Given the description of an element on the screen output the (x, y) to click on. 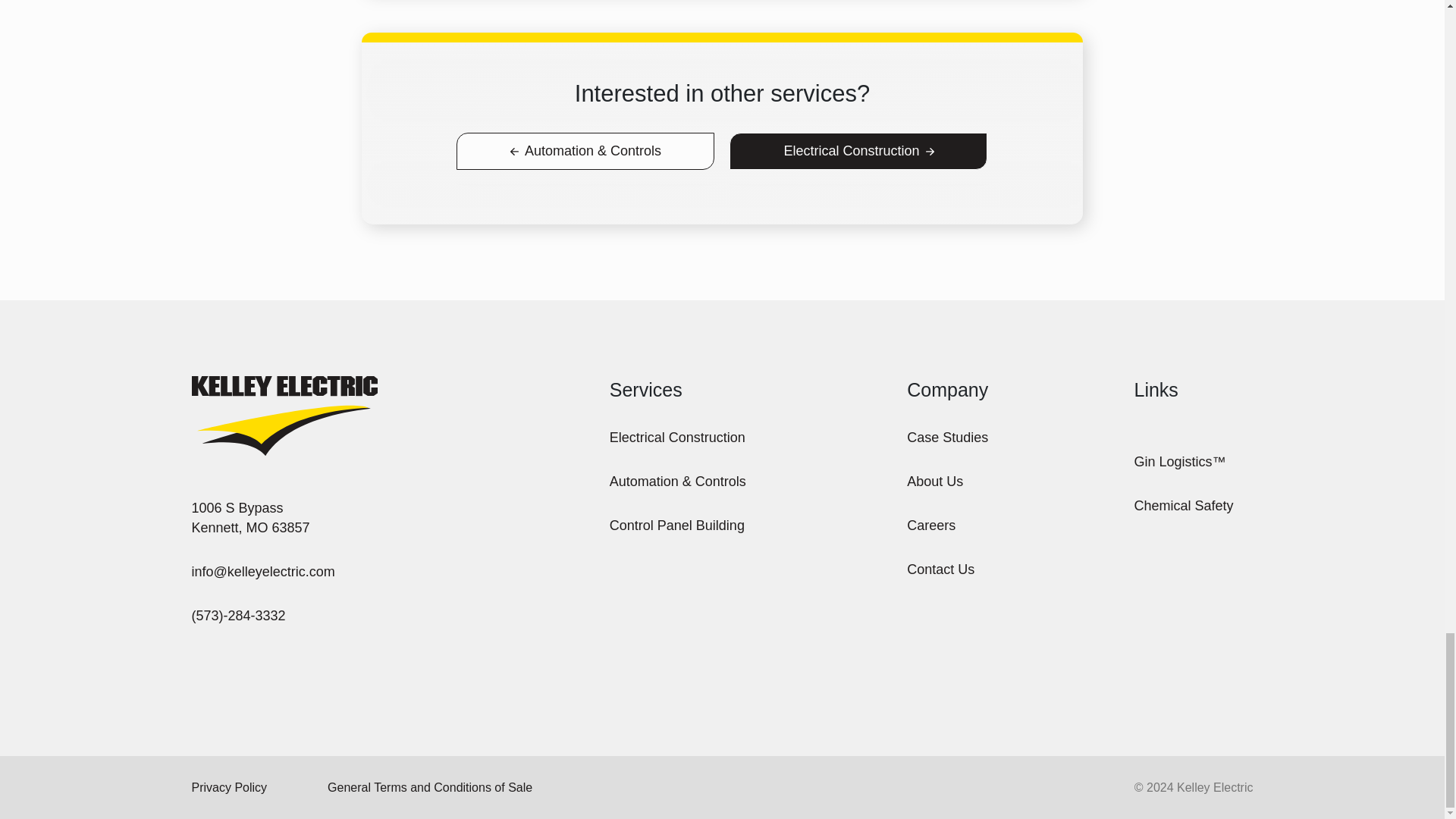
Careers (931, 525)
Privacy Policy (228, 787)
About Us (934, 481)
Control Panel Building (249, 517)
Contact Us (677, 525)
Case Studies (940, 569)
General Terms and Conditions of Sale (947, 437)
Electrical Construction (429, 787)
Chemical Safety (677, 437)
